Given the description of an element on the screen output the (x, y) to click on. 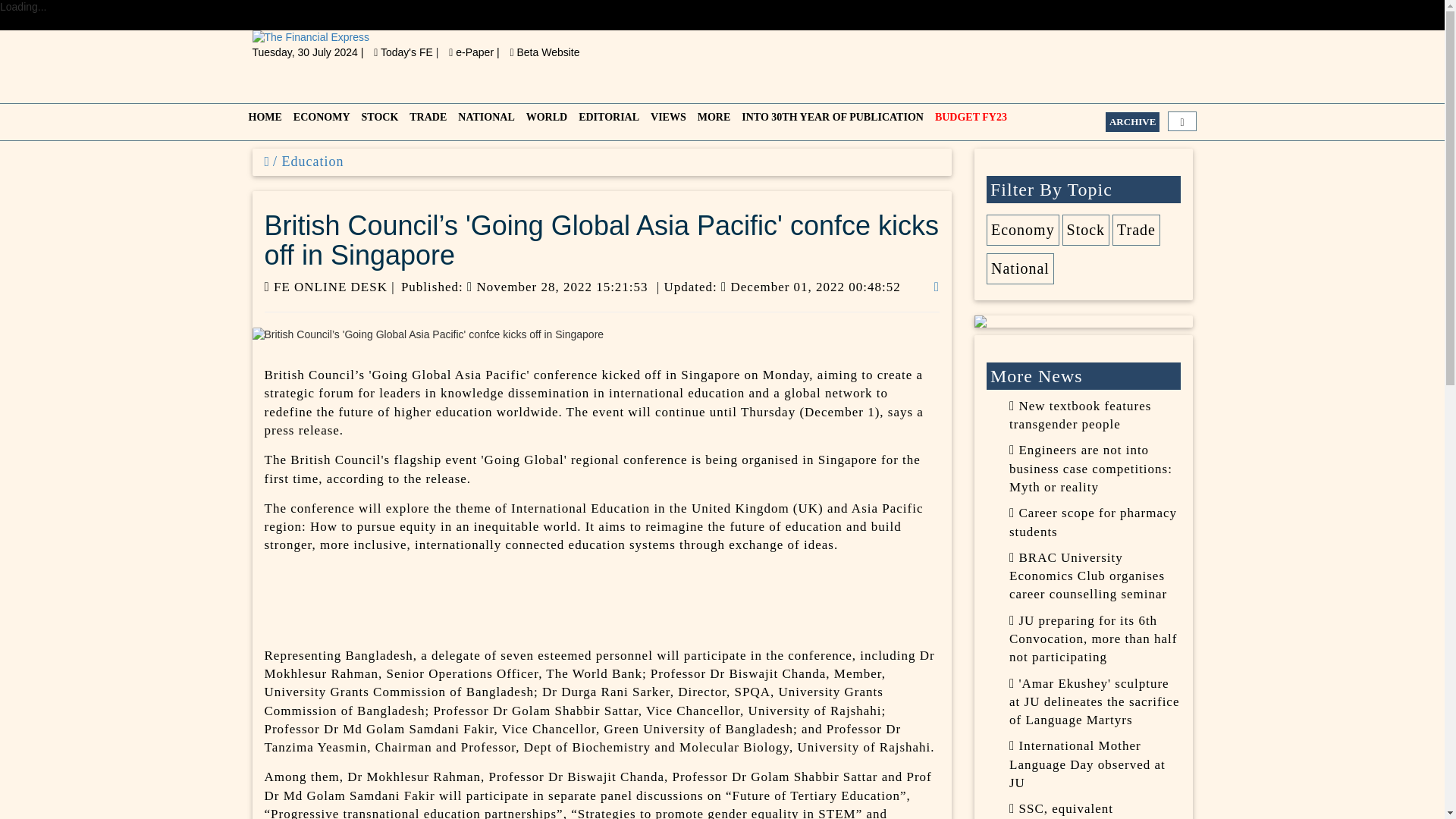
TRADE (425, 122)
WORLD (544, 122)
MORE (712, 122)
VIEWS (666, 122)
STOCK (378, 122)
EDITORIAL (606, 122)
Beta Website (544, 51)
Today's FE (404, 51)
HOME (263, 122)
ARCHIVE (1131, 121)
ECONOMY (319, 122)
NATIONAL (483, 122)
